Given the description of an element on the screen output the (x, y) to click on. 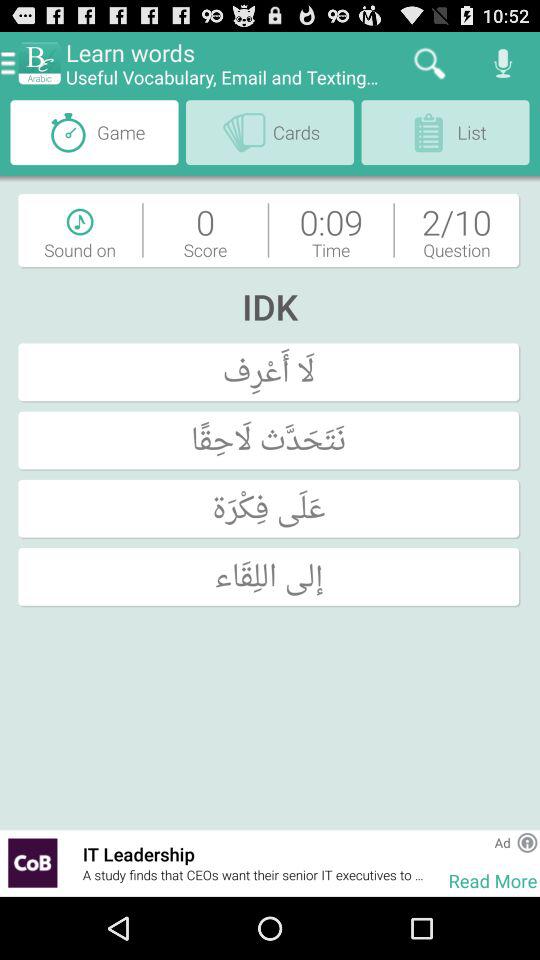
show advertisement (32, 862)
